Given the description of an element on the screen output the (x, y) to click on. 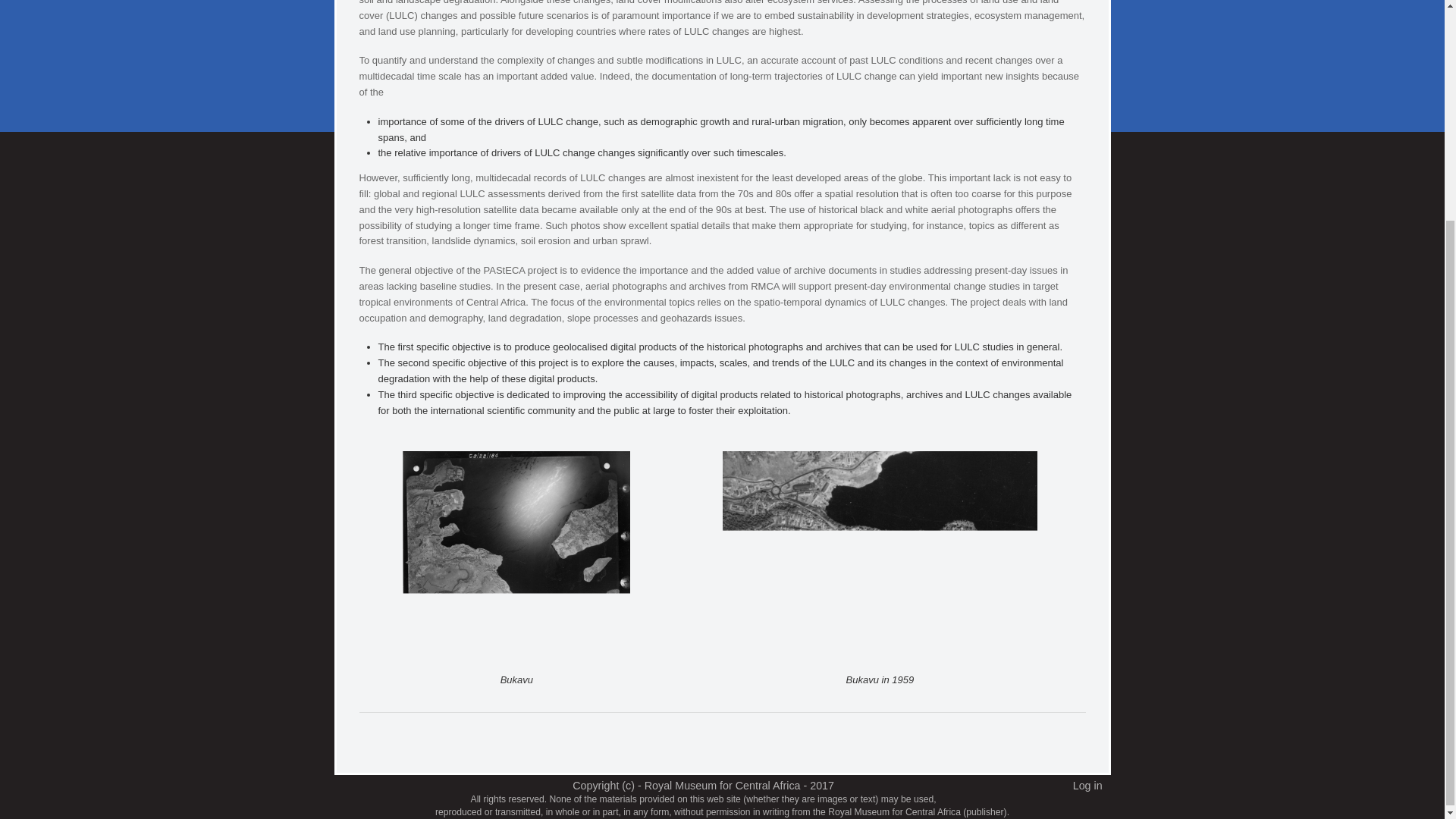
Log in (1087, 785)
